Given the description of an element on the screen output the (x, y) to click on. 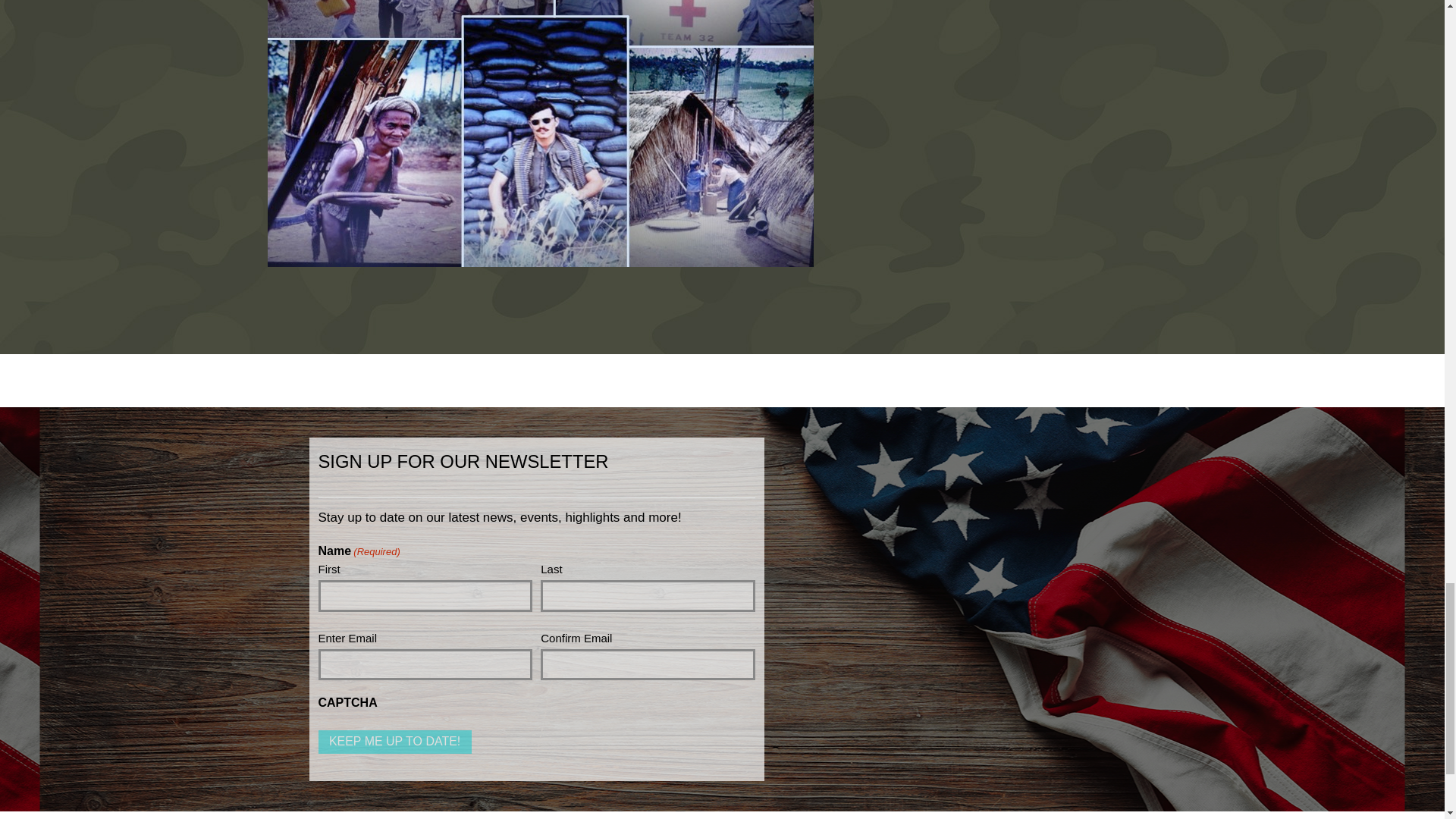
Keep me up to date! (394, 741)
